Given the description of an element on the screen output the (x, y) to click on. 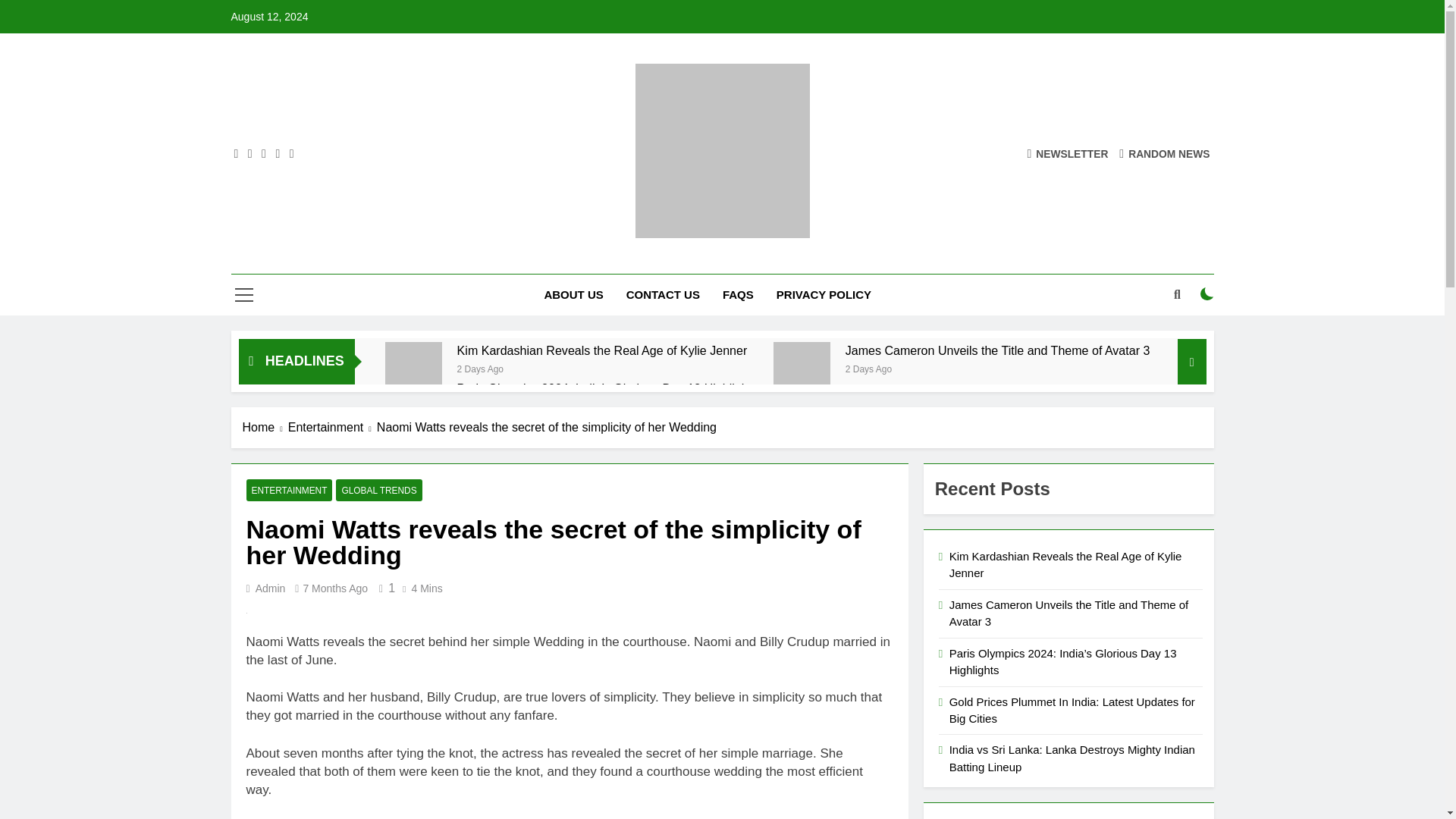
NEWSLETTER (1067, 153)
Viral Infos (558, 259)
RANDOM NEWS (1164, 153)
ABOUT US (573, 294)
2 Days Ago (480, 367)
FAQS (738, 294)
James Cameron Unveils the Title and Theme of Avatar 3  (999, 350)
